Given the description of an element on the screen output the (x, y) to click on. 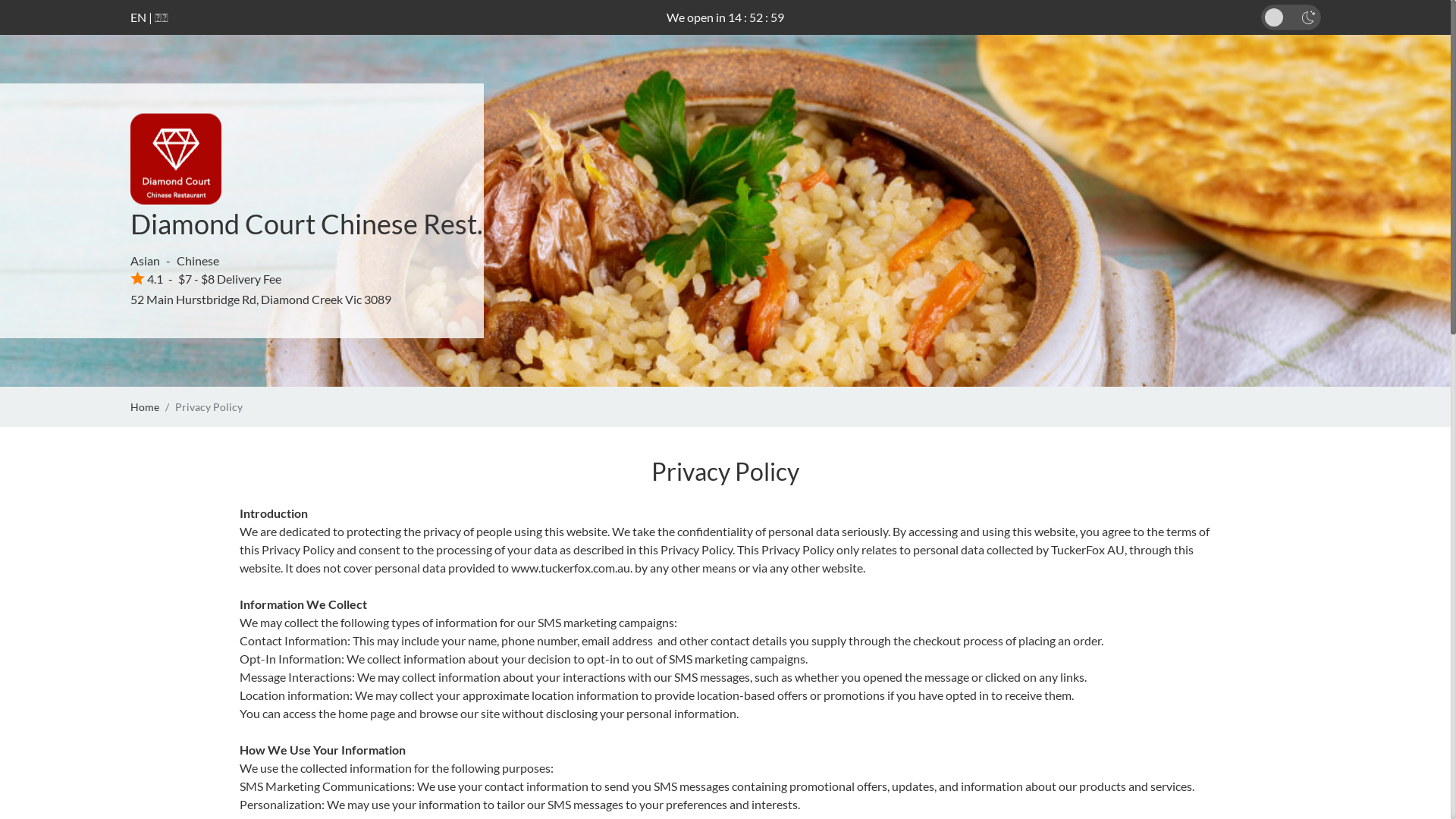
Home Element type: text (144, 406)
4.1 Element type: text (146, 278)
EN Element type: text (138, 16)
Diamond Court Chinese Rest. Element type: text (306, 223)
